Given the description of an element on the screen output the (x, y) to click on. 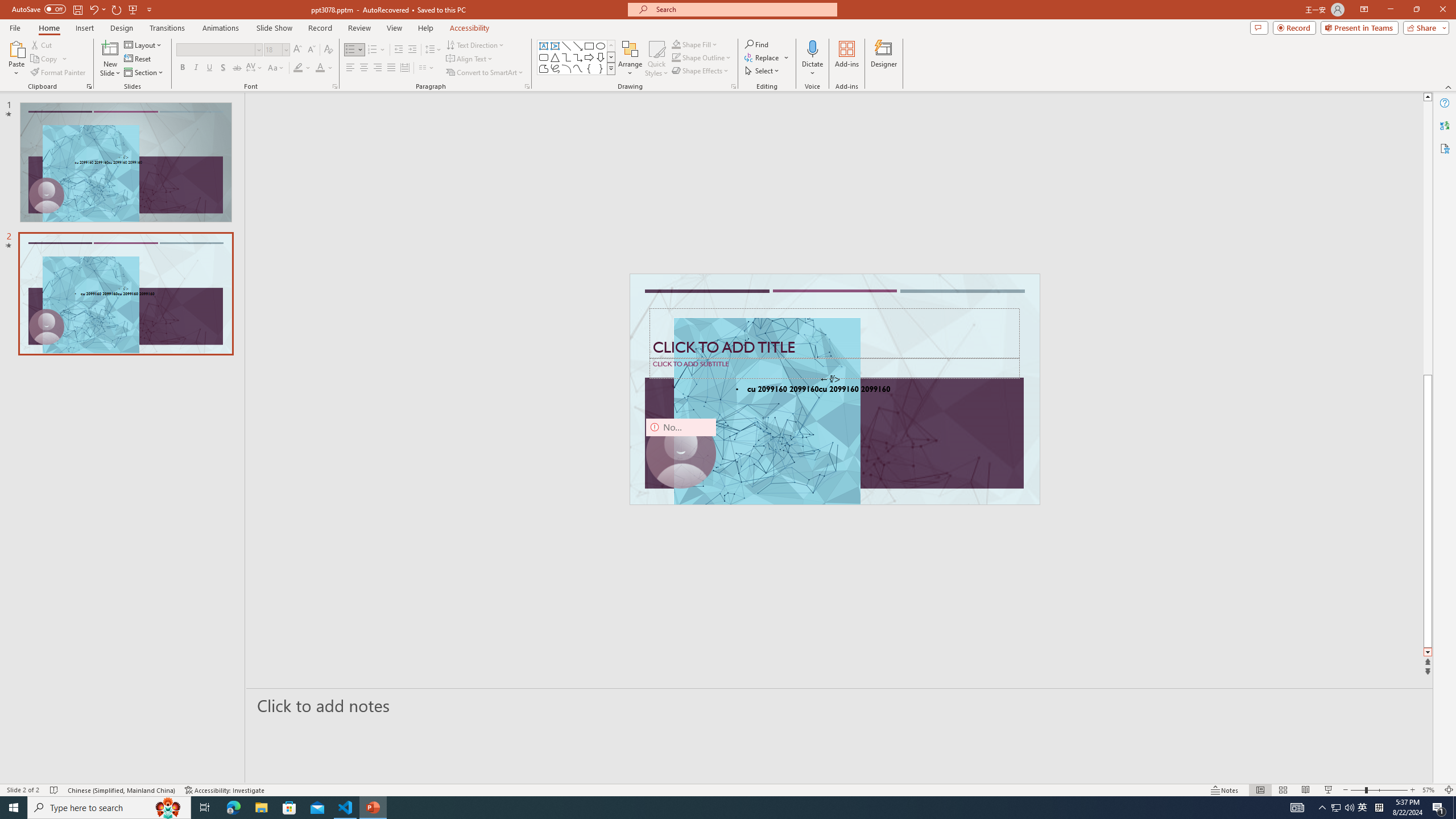
Zoom 57% (1430, 790)
